Given the description of an element on the screen output the (x, y) to click on. 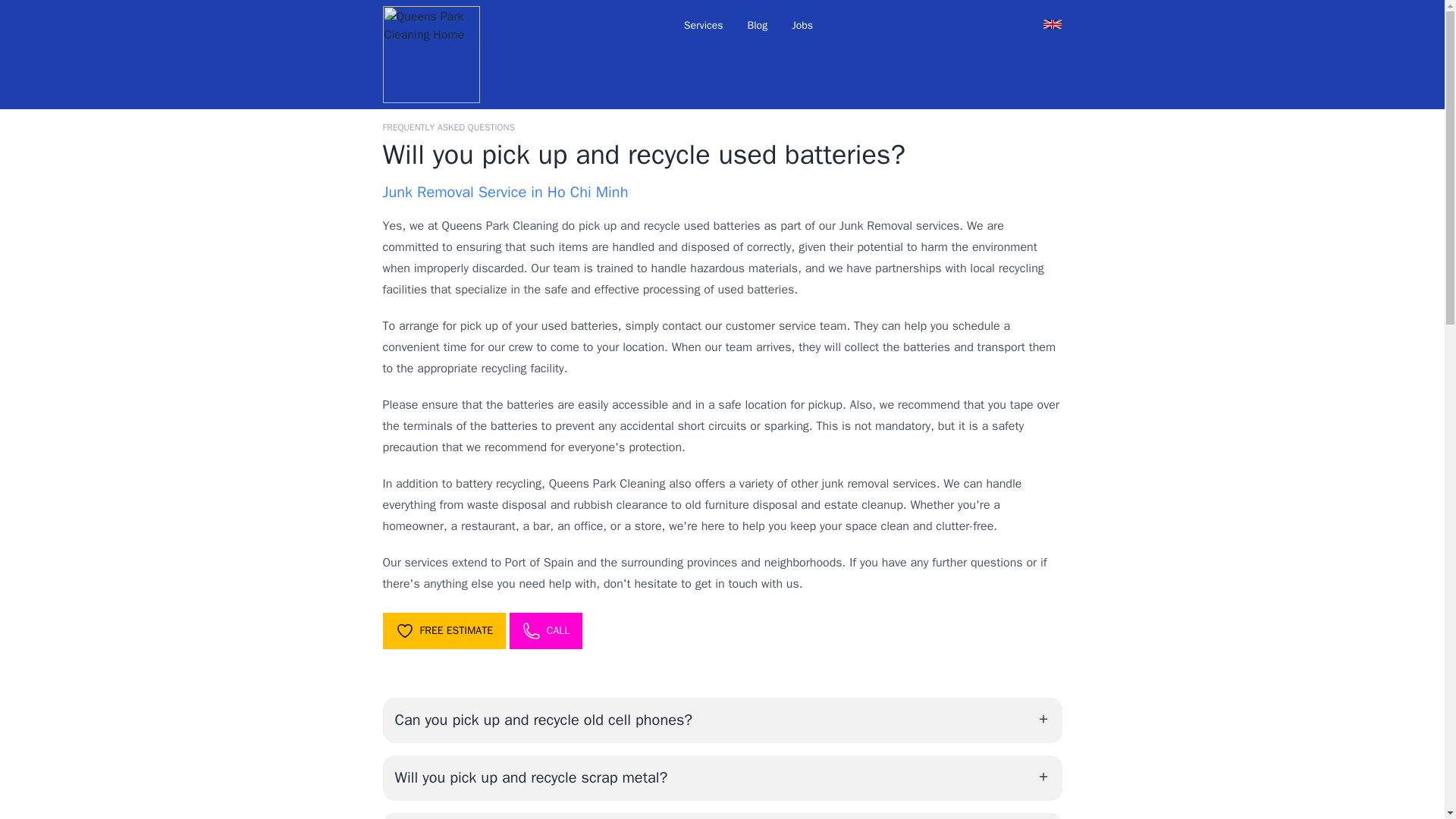
Jobs (801, 25)
Queens Park Cleaning Home (430, 54)
Services (703, 25)
Blog (757, 25)
CALL (546, 630)
FREE ESTIMATE (443, 630)
Junk Removal Service in Ho Chi Minh (504, 191)
